Given the description of an element on the screen output the (x, y) to click on. 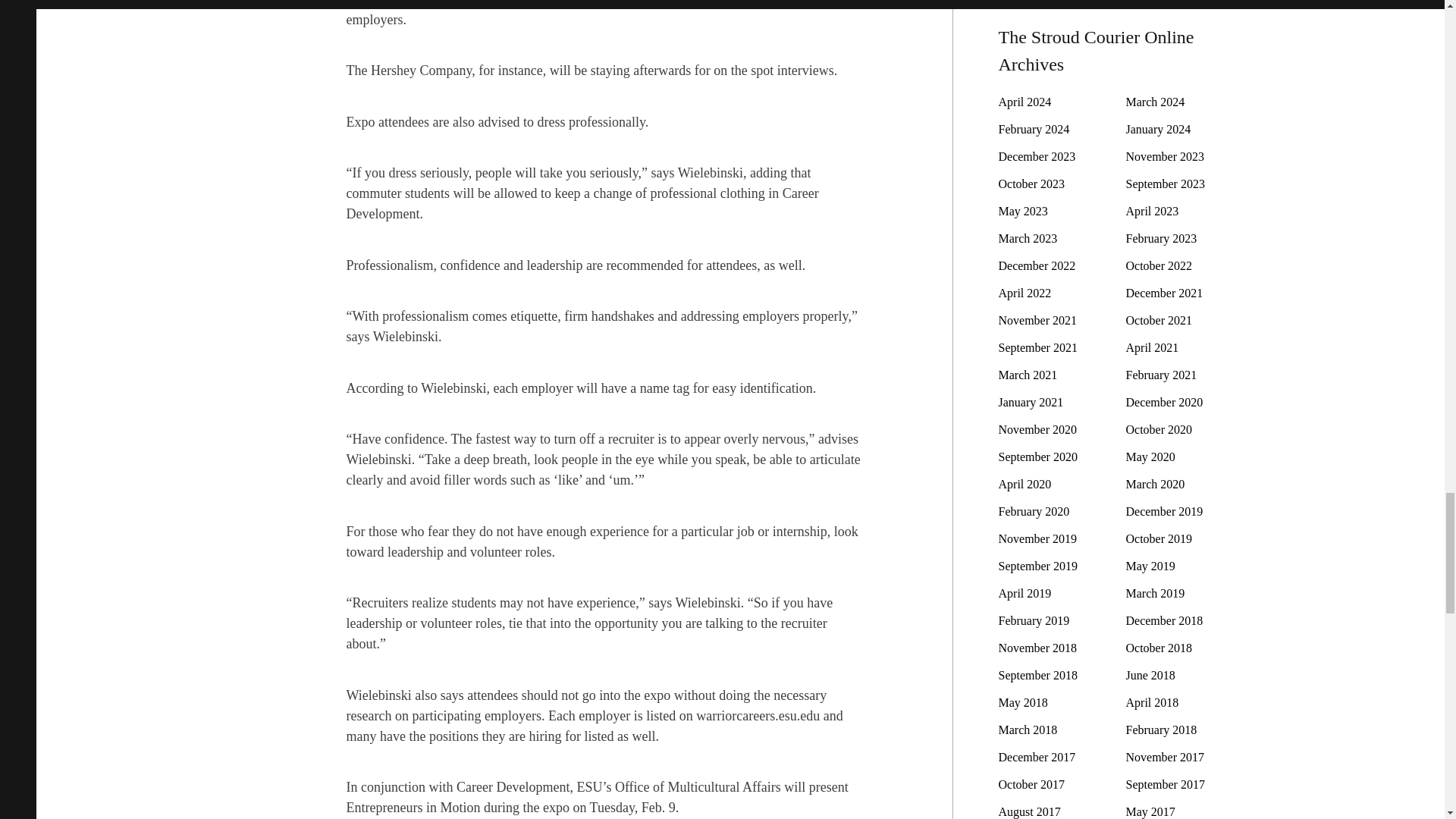
May 2023 (1021, 210)
March 2024 (1155, 101)
April 2024 (1024, 101)
February 2023 (1160, 237)
April 2023 (1151, 210)
March 2023 (1027, 237)
January 2024 (1158, 128)
April 2022 (1024, 292)
February 2024 (1032, 128)
September 2023 (1164, 183)
